Given the description of an element on the screen output the (x, y) to click on. 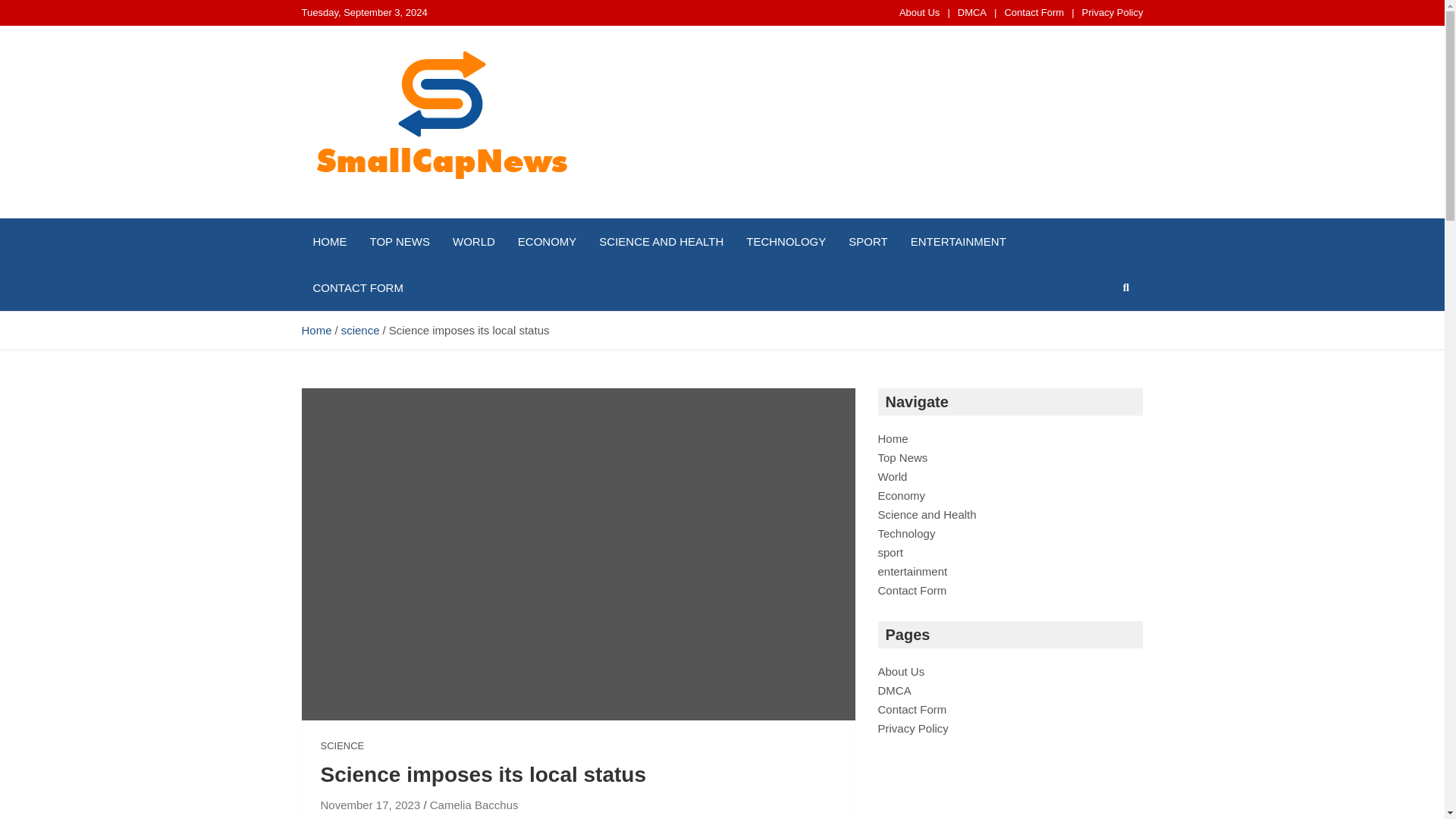
November 17, 2023 (370, 804)
Science imposes its local status (370, 804)
ECONOMY (547, 241)
Camelia Bacchus (473, 804)
entertainment (912, 571)
DMCA (972, 12)
science (360, 329)
World (892, 476)
ENTERTAINMENT (958, 241)
HOME (329, 241)
